Given the description of an element on the screen output the (x, y) to click on. 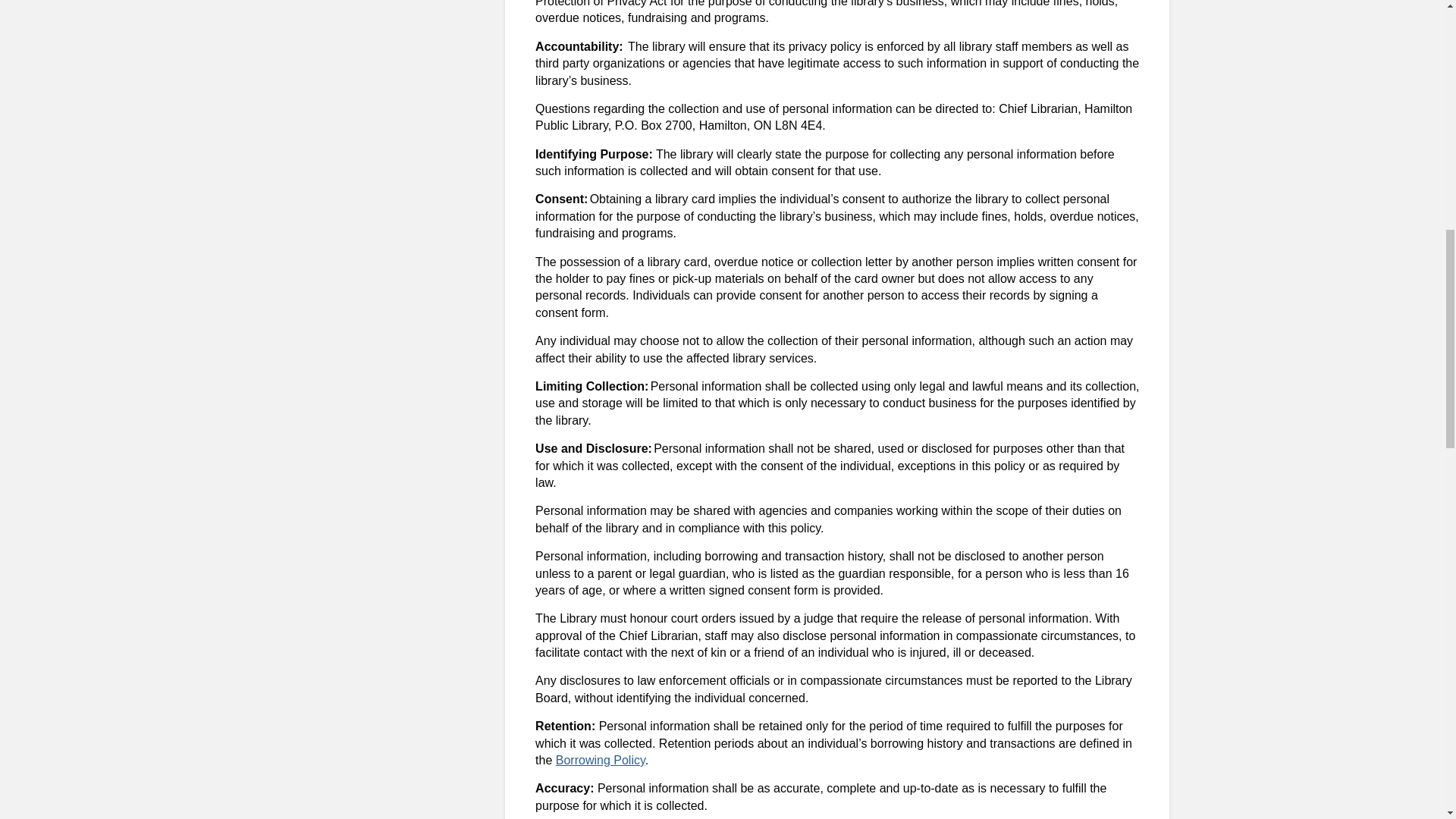
Borrowing Policy (600, 759)
